Given the description of an element on the screen output the (x, y) to click on. 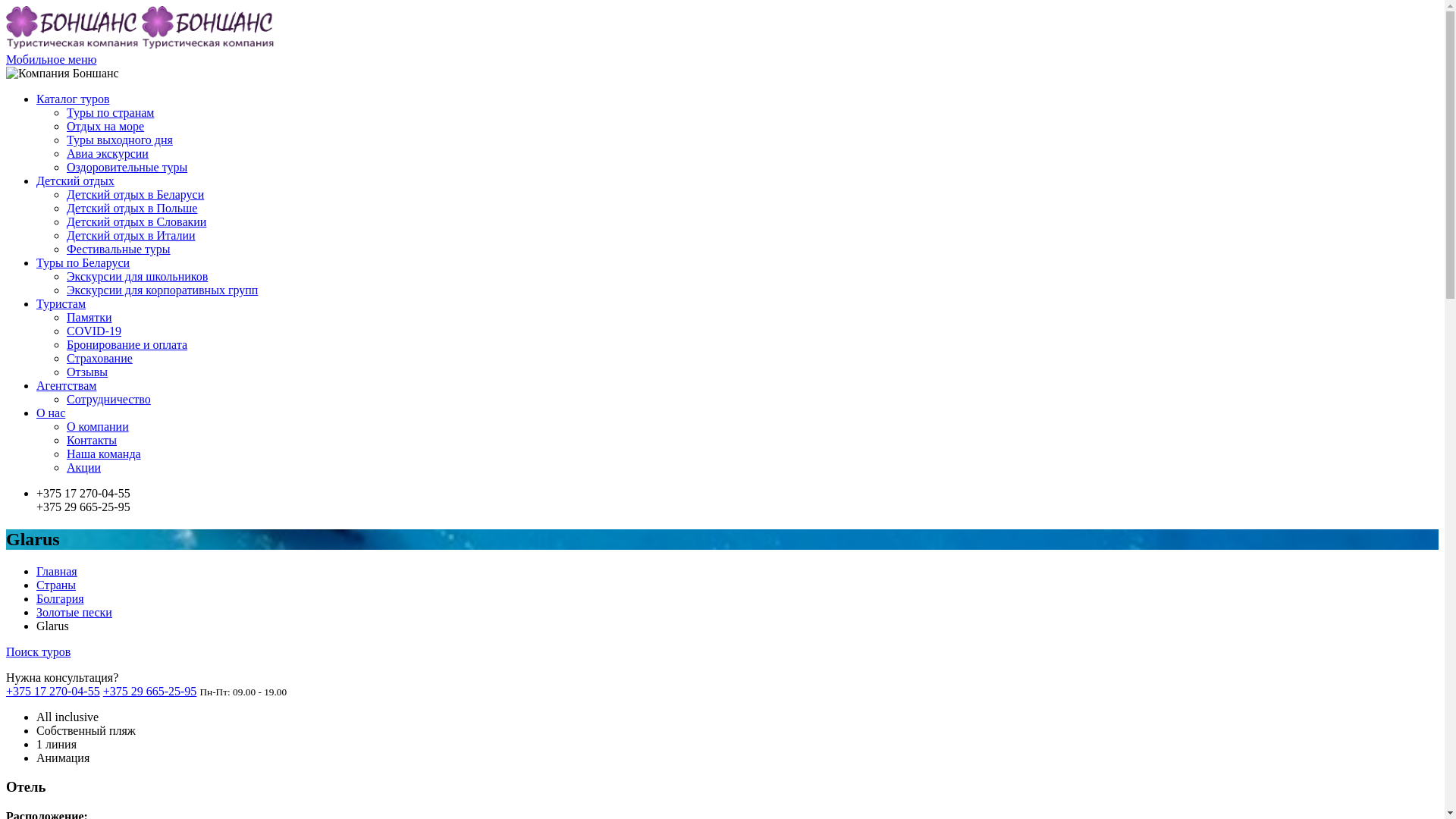
+375 29 665-25-95 Element type: text (150, 690)
+375 17 270-04-55 Element type: text (53, 690)
COVID-19 Element type: text (93, 330)
